Given the description of an element on the screen output the (x, y) to click on. 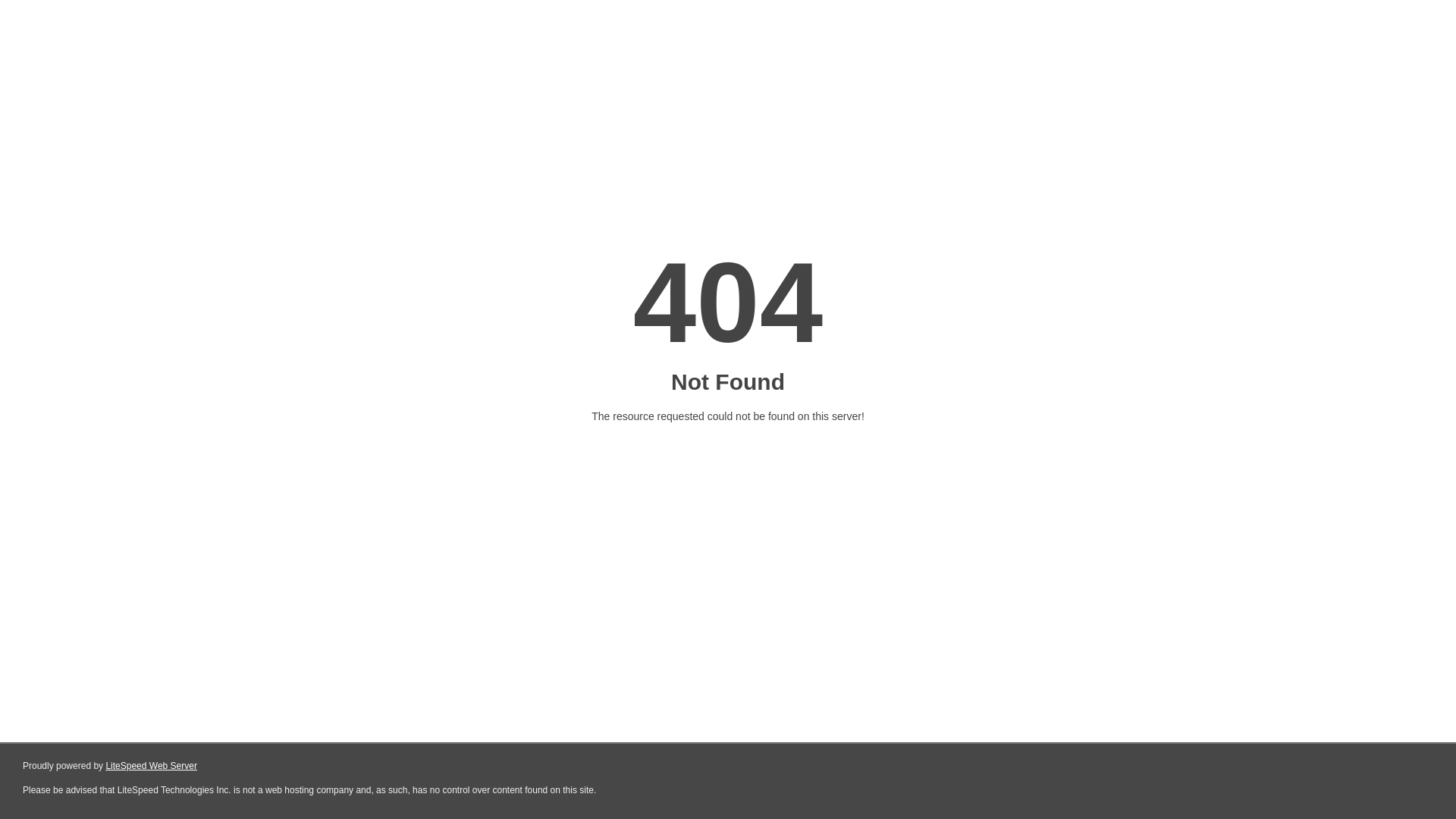
LiteSpeed Web Server Element type: text (151, 765)
